Given the description of an element on the screen output the (x, y) to click on. 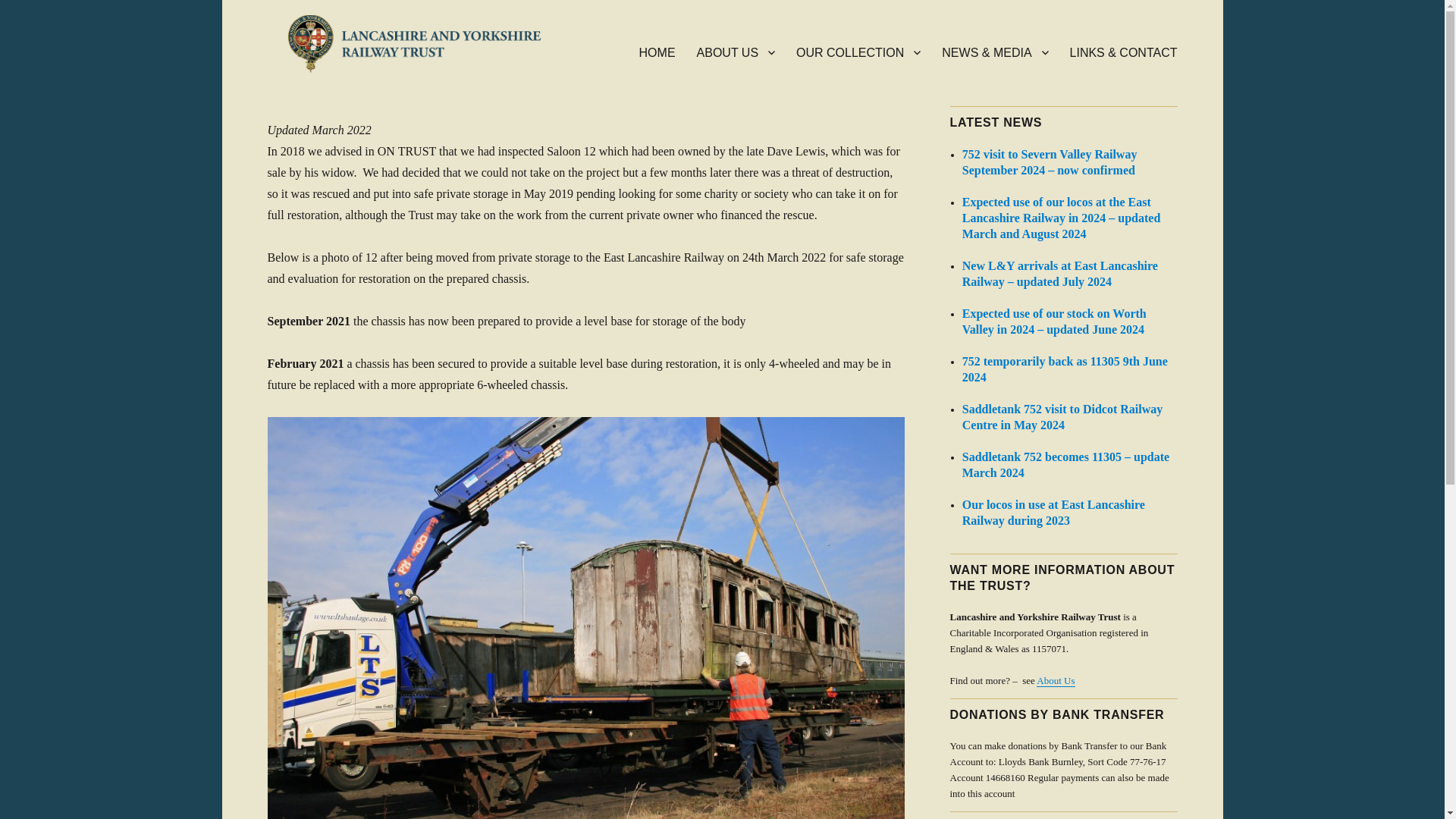
ABOUT US (735, 51)
OUR COLLECTION (858, 51)
HOME (656, 51)
